Given the description of an element on the screen output the (x, y) to click on. 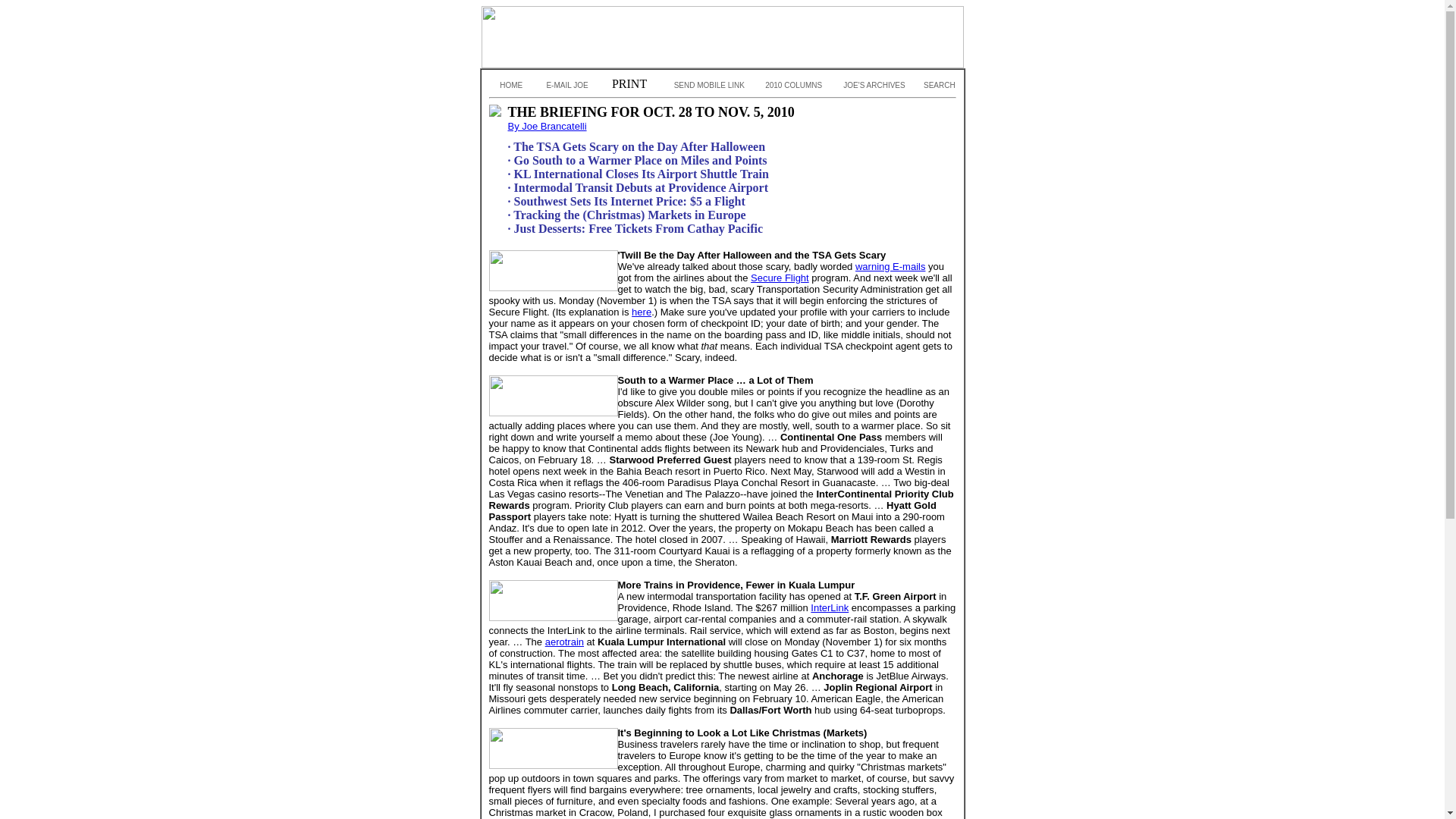
2010 COLUMNS    (791, 85)
here (640, 311)
SEND MOBILE LINK    (705, 85)
SEARCH (933, 85)
HOME    (507, 85)
JOE'S ARCHIVES   (870, 85)
PRINT    (626, 83)
By Joe Brancatelli (547, 125)
InterLink (829, 607)
aerotrain (563, 641)
E-MAIL JOE    (563, 85)
warning E-mails (890, 266)
Secure Flight (780, 277)
